Given the description of an element on the screen output the (x, y) to click on. 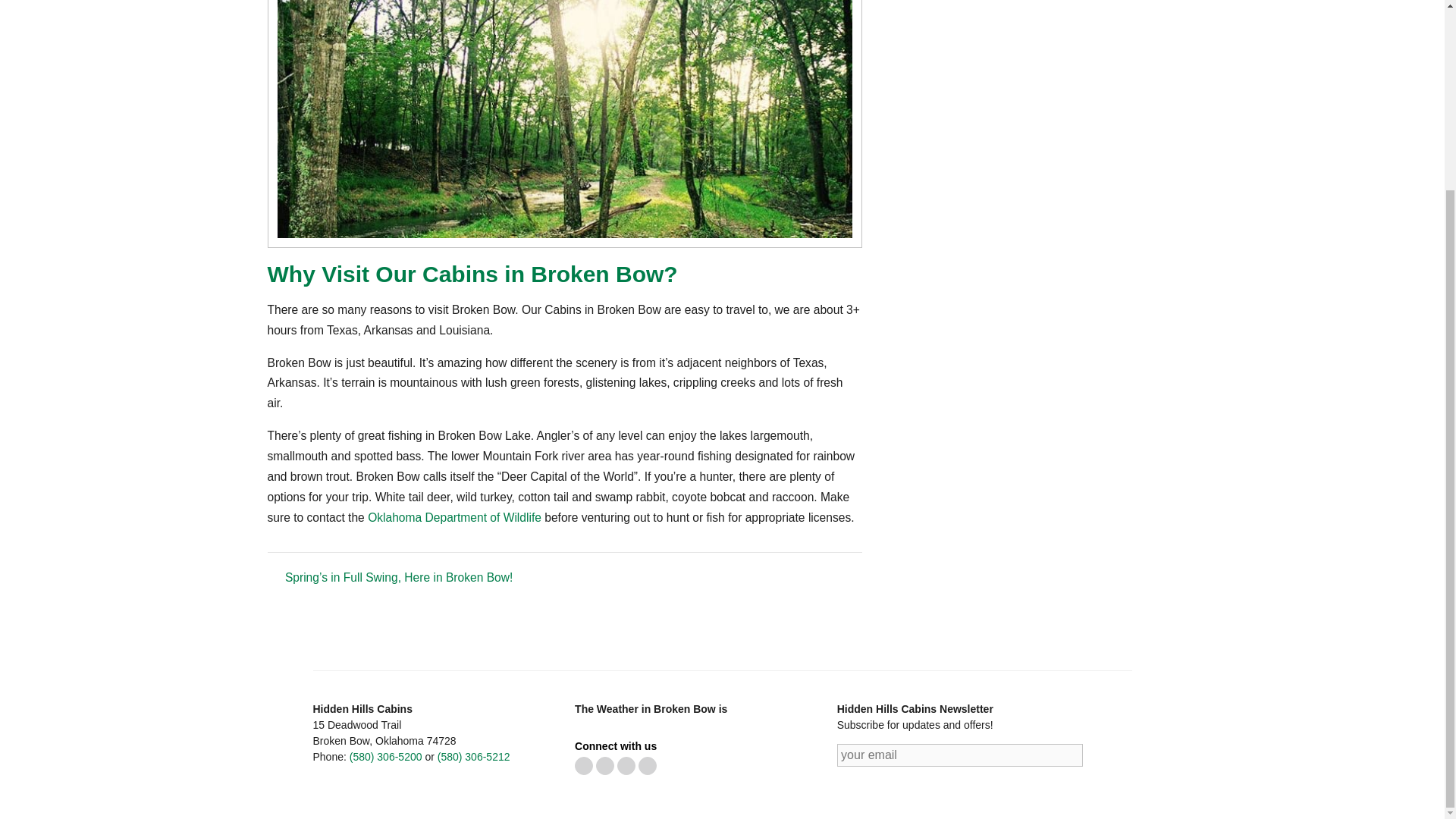
Like us on Facebook. (604, 770)
Follow us on twitter. (583, 770)
McCurtain County Game Warden (454, 517)
See our Instagram pics. (625, 770)
Oklahoma Department of Wildlife (454, 517)
Add us on Google Plus. (647, 770)
